Given the description of an element on the screen output the (x, y) to click on. 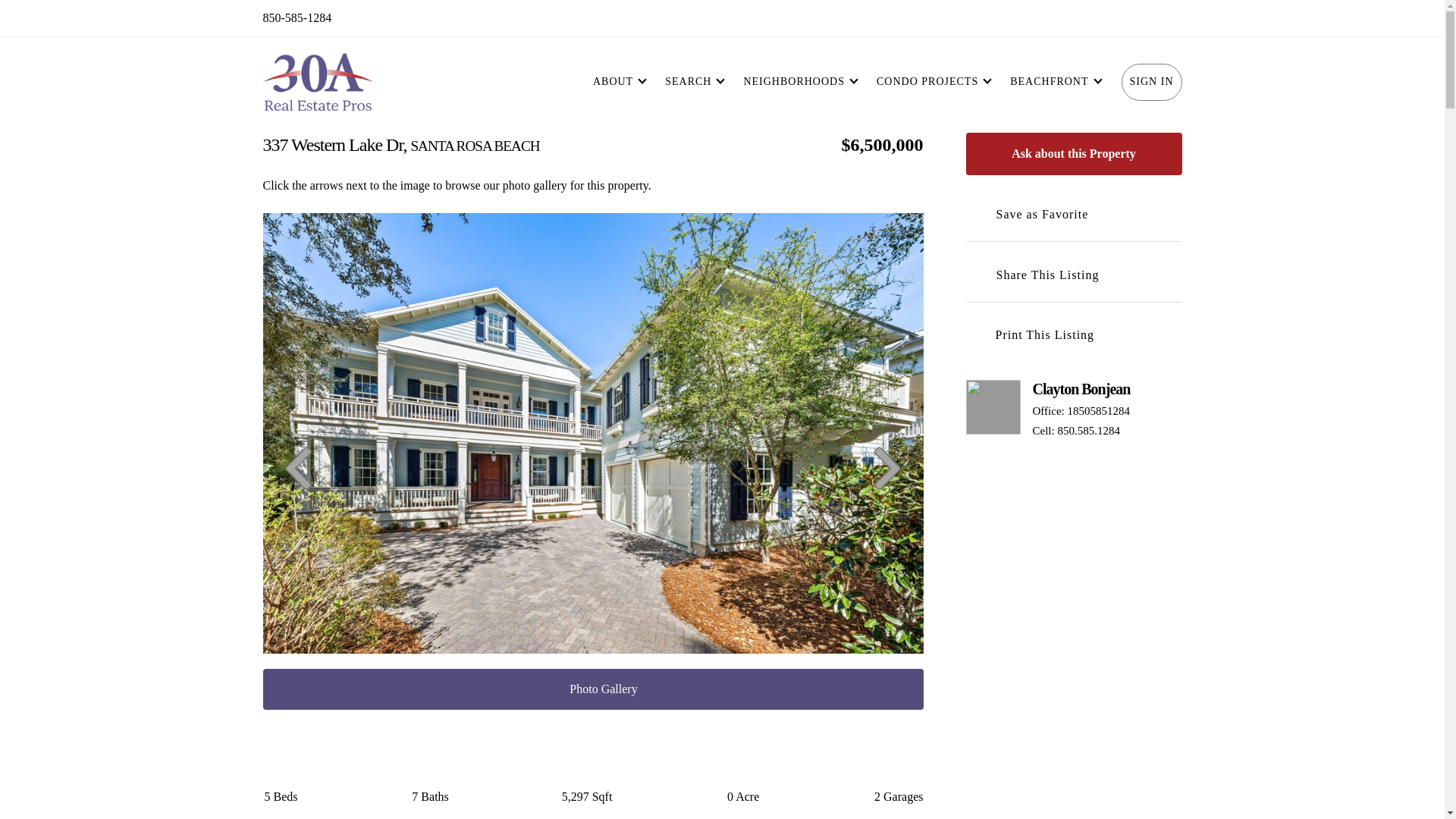
SEARCH (687, 81)
Sign in to your account (1151, 81)
850-585-1284 (296, 17)
Site Logo (317, 81)
NEIGHBORHOODS (794, 81)
Save Listing (979, 214)
ABOUT (613, 81)
